Given the description of an element on the screen output the (x, y) to click on. 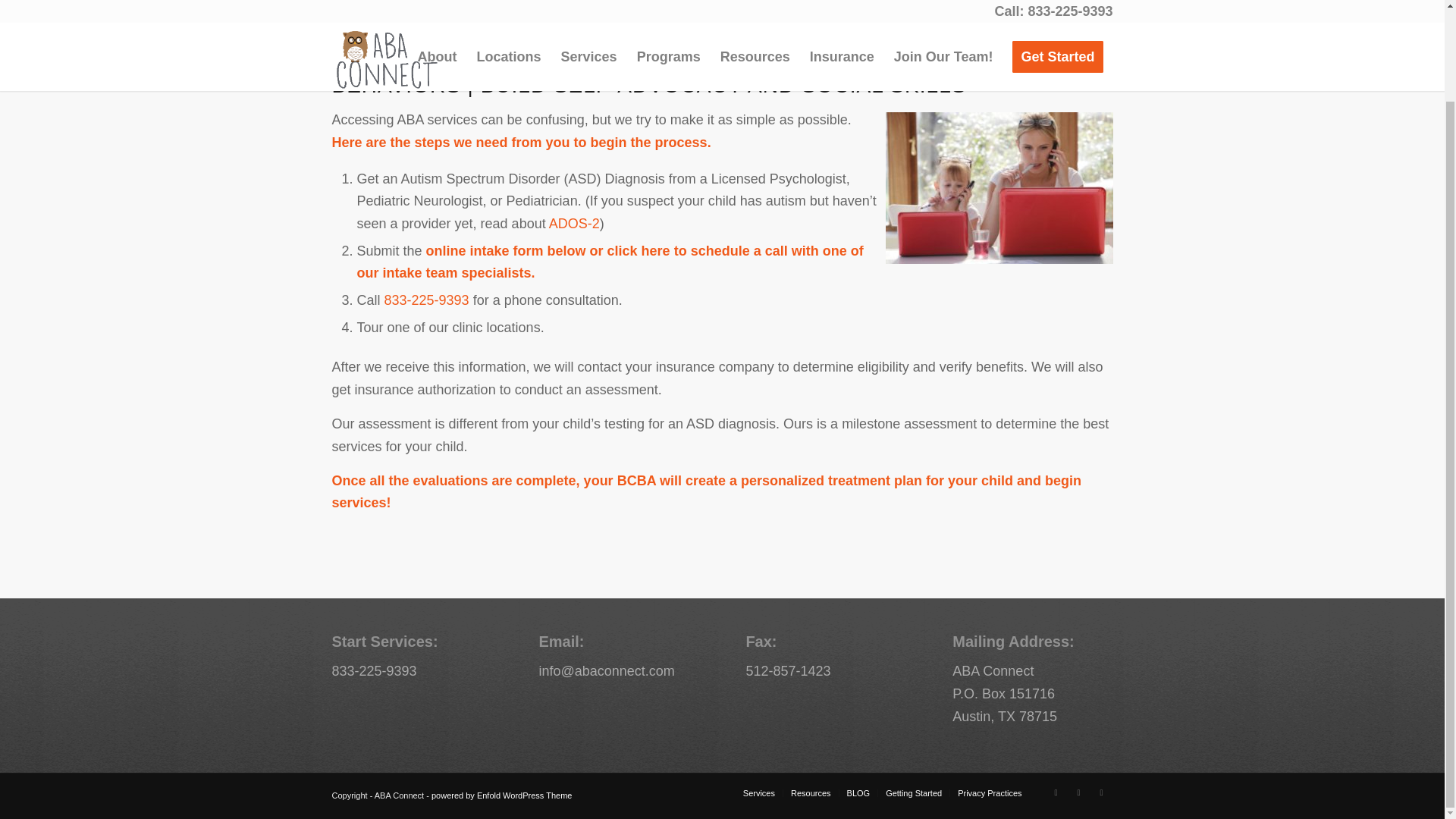
ADOS-2 (573, 223)
Instagram (1101, 792)
Twitter (1078, 792)
Facebook (1056, 792)
833-225-9393 (426, 299)
